Given the description of an element on the screen output the (x, y) to click on. 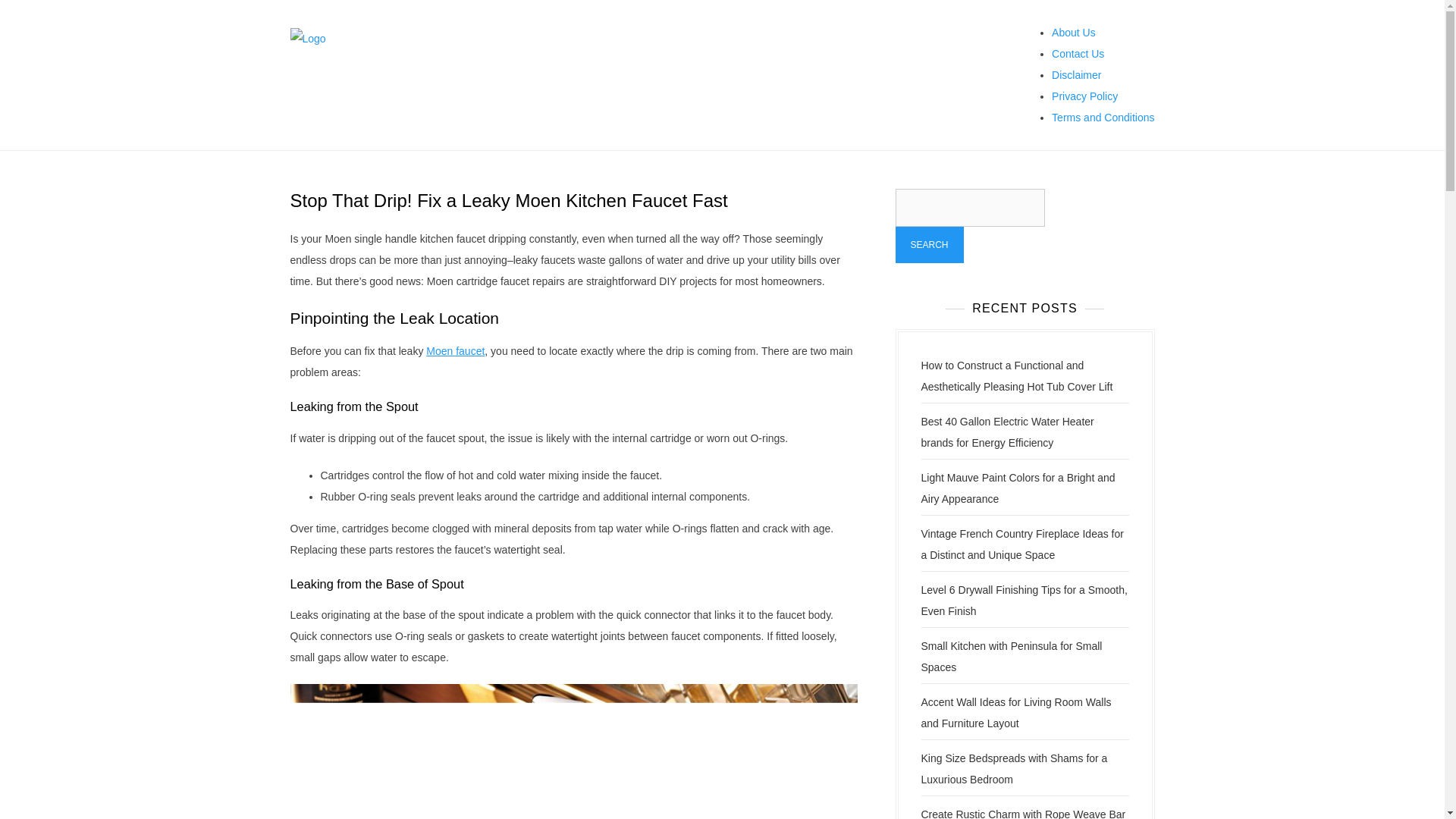
Moen faucet (455, 350)
Terms and Conditions (1102, 117)
SEARCH (928, 244)
Accent Wall Ideas for Living Room Walls and Furniture Layout (1015, 712)
King Size Bedspreads with Shams for a Luxurious Bedroom (1013, 768)
Privacy Policy (1084, 96)
Contact Us (1077, 53)
